Given the description of an element on the screen output the (x, y) to click on. 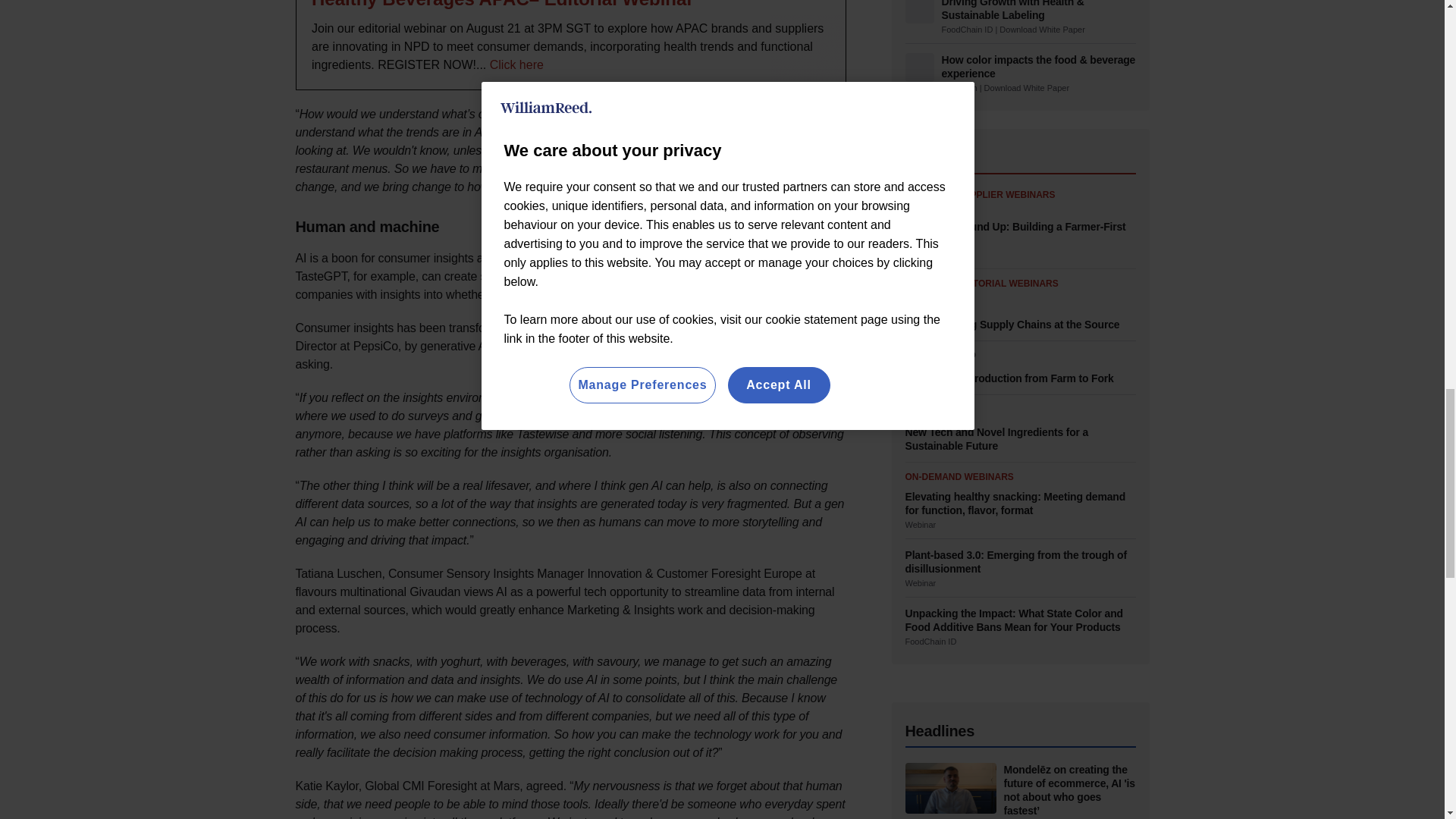
3rd party ad content (570, 45)
